Given the description of an element on the screen output the (x, y) to click on. 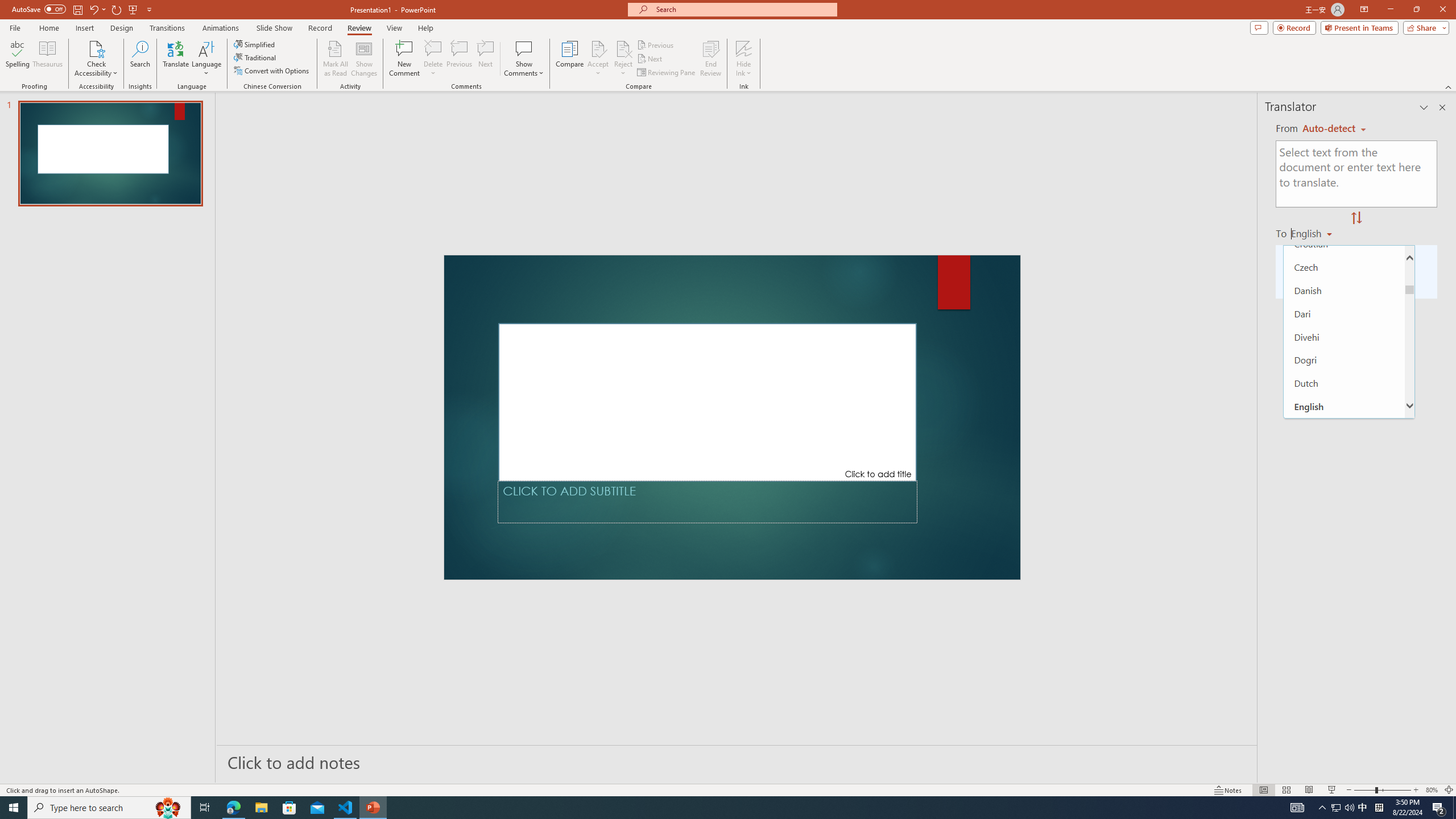
New Comment (403, 58)
Fijian (1344, 476)
Accept Change (598, 48)
Chinese Simplified (1344, 196)
Faroese (1344, 452)
Language (206, 58)
Chhattisgarhi (1344, 150)
